Given the description of an element on the screen output the (x, y) to click on. 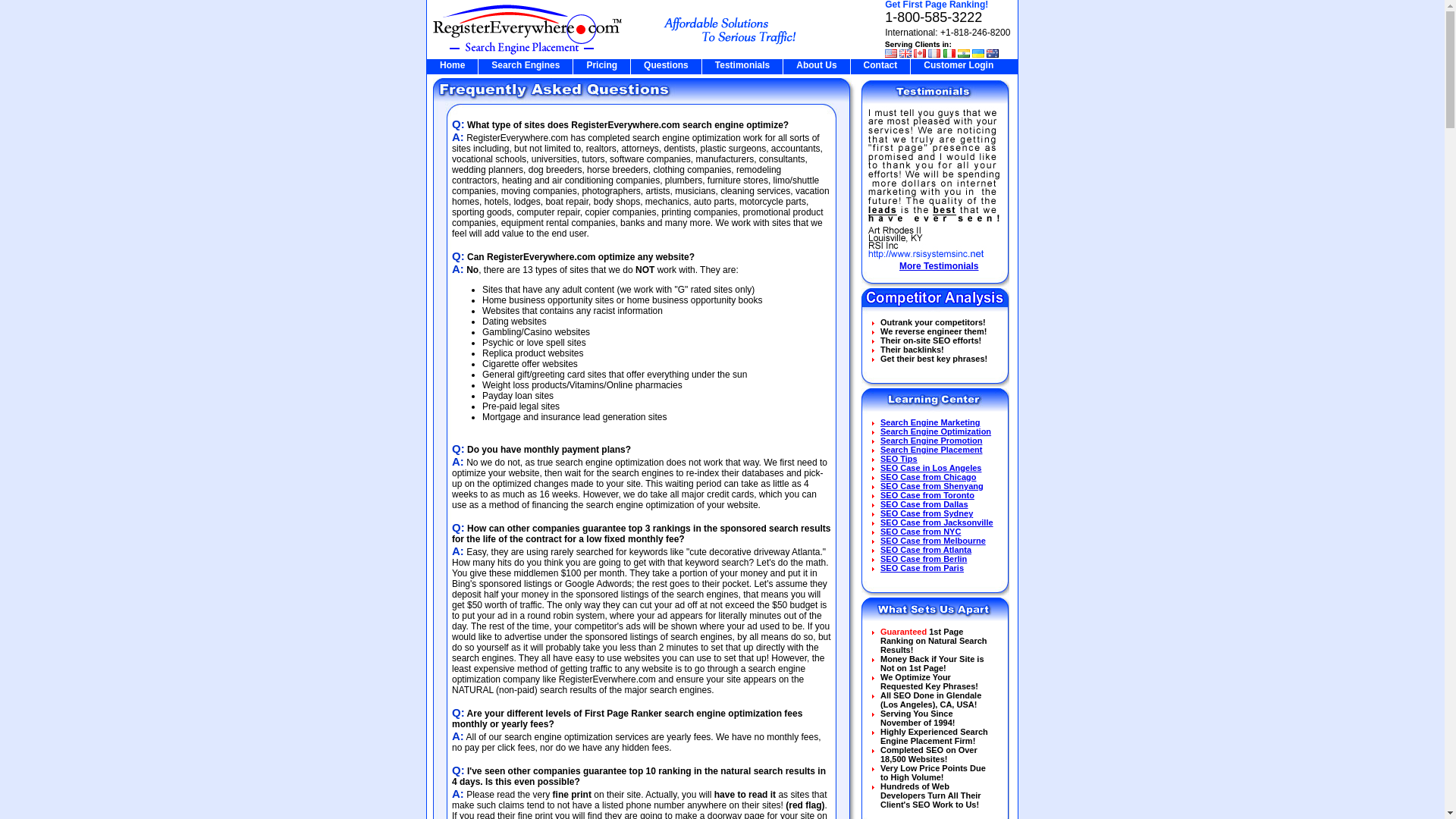
SEO Case from Chicago (928, 476)
Search Engine Marketing (929, 421)
SEO Case from Melbourne (932, 540)
SEO Case from Sydney (926, 512)
SEO Case from Paris (921, 567)
SEO Case from Dallas (924, 503)
SEO Case from NYC (920, 531)
SEO Case from Berlin (923, 558)
Search Engines (525, 64)
SEO Case from Shenyang (932, 485)
Search Engine Placement (931, 449)
About Us (815, 64)
Contact (880, 64)
Questions (665, 64)
SEO Tips (898, 458)
